Given the description of an element on the screen output the (x, y) to click on. 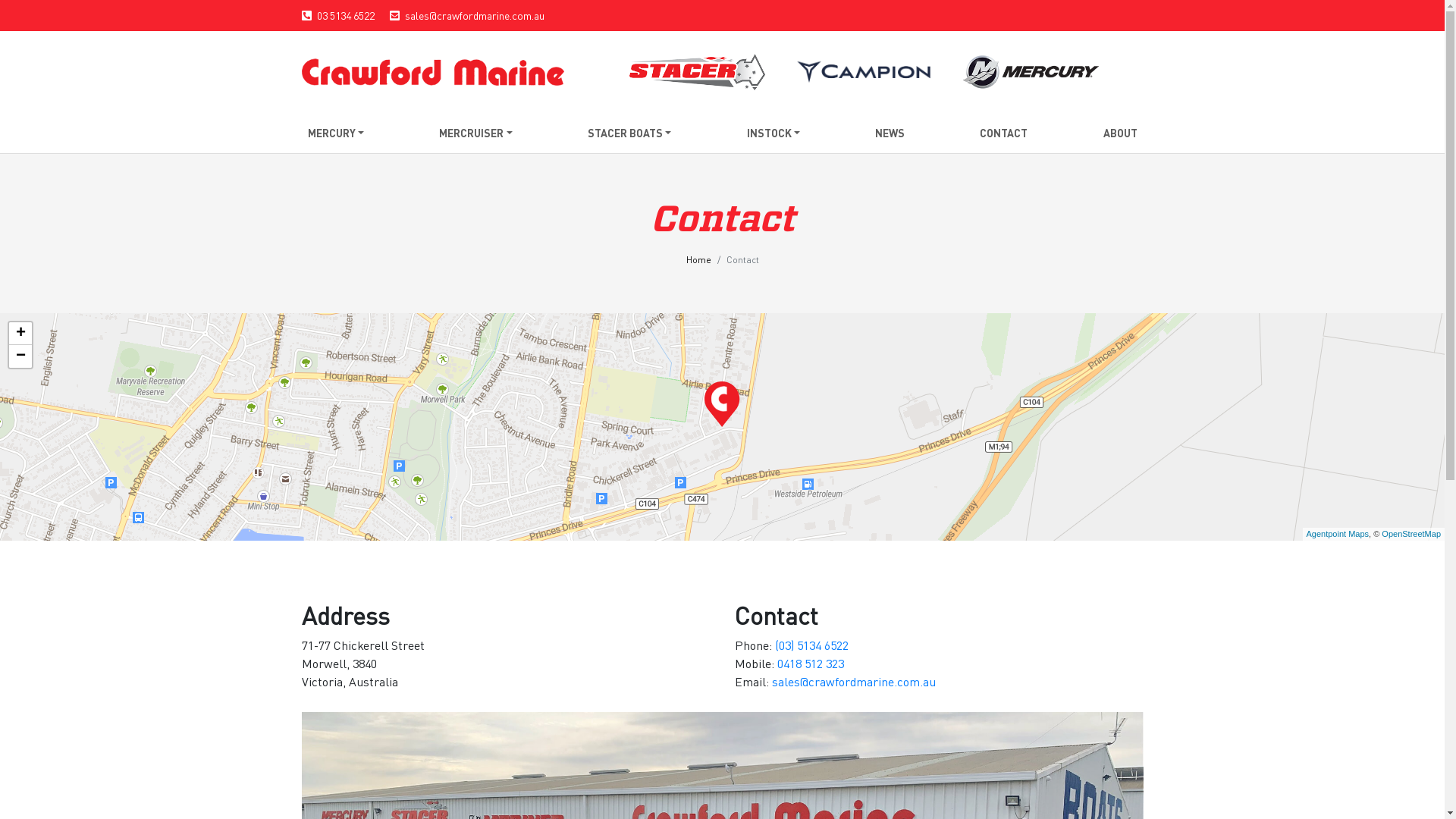
... Element type: hover (432, 71)
+ Element type: text (20, 333)
MERCURY Element type: text (335, 132)
STACER BOATS Element type: text (629, 132)
(03) 5134 6522 Element type: text (811, 644)
sales@crawfordmarine.com.au Element type: text (474, 15)
INSTOCK Element type: text (773, 132)
Home Element type: text (697, 259)
sales@crawfordmarine.com.au Element type: text (853, 681)
MERCRUISER Element type: text (475, 132)
0418 512 323 Element type: text (809, 663)
NEWS Element type: text (889, 132)
Agentpoint Maps Element type: text (1336, 533)
ABOUT Element type: text (1119, 132)
OpenStreetMap Element type: text (1410, 533)
03 5134 6522 Element type: text (345, 15)
CONTACT Element type: text (1003, 132)
